Given the description of an element on the screen output the (x, y) to click on. 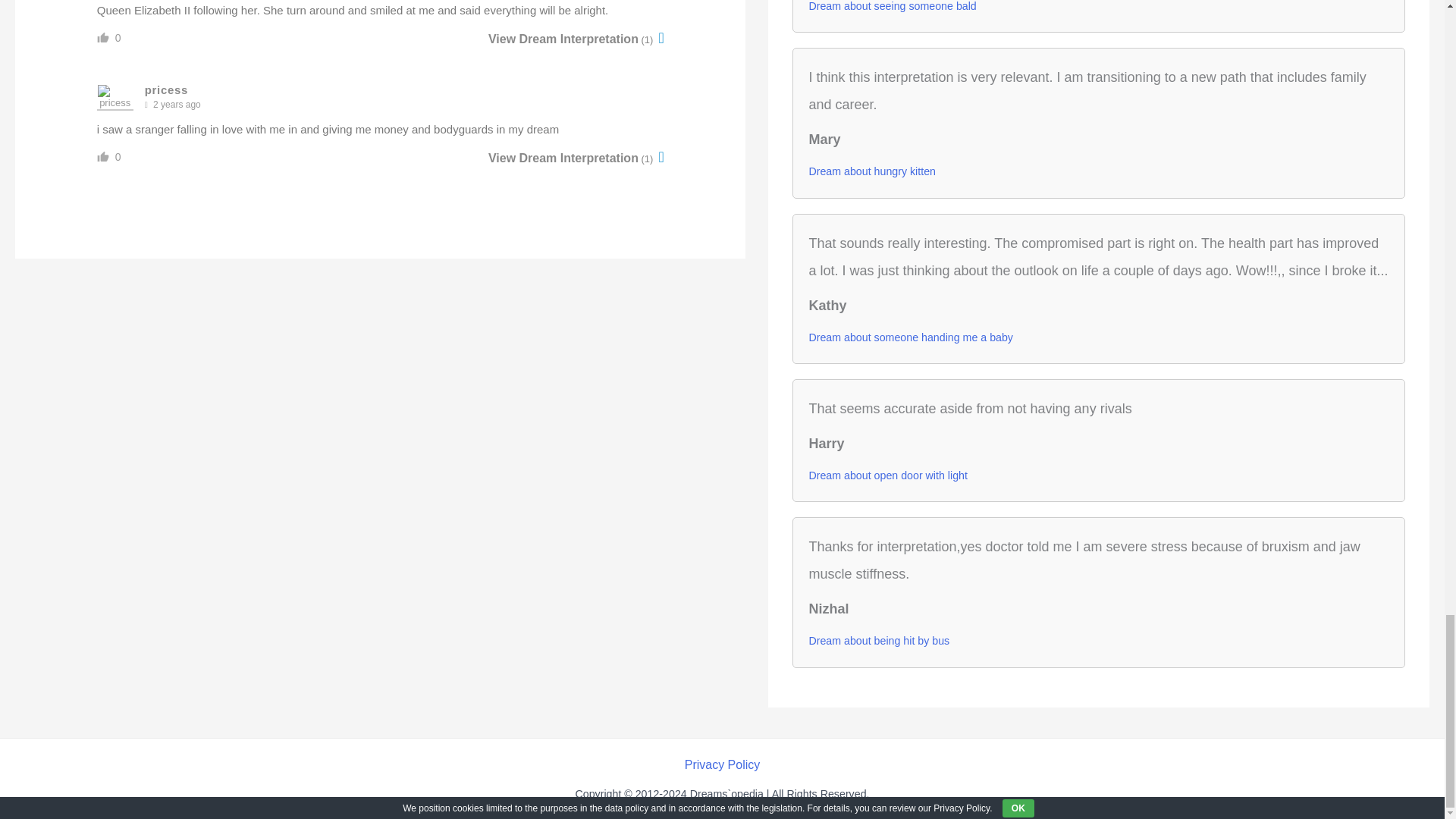
0 (118, 156)
0 (118, 37)
December 30, 2021 8:38 pm (176, 104)
